Given the description of an element on the screen output the (x, y) to click on. 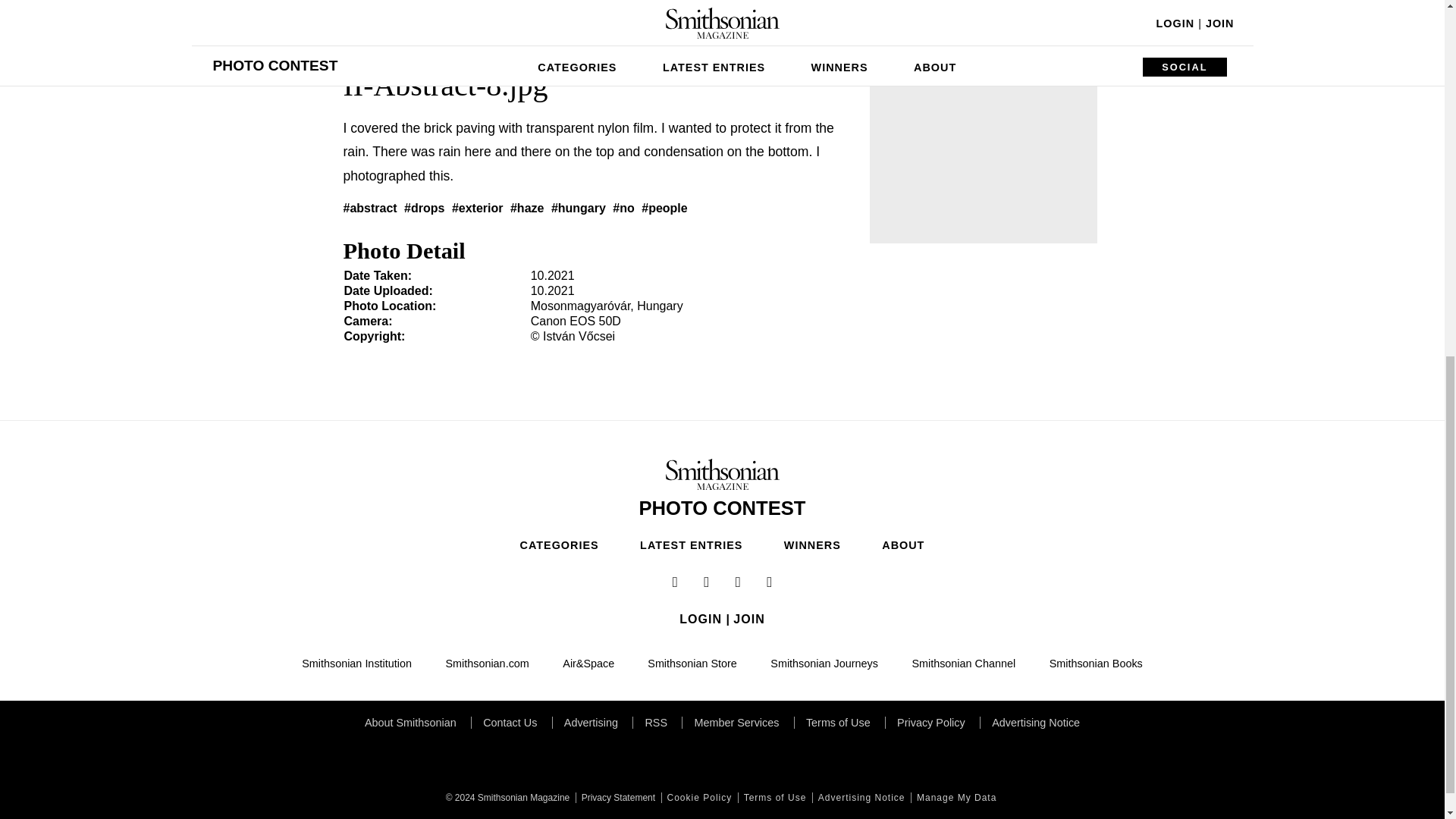
Manage My Data (954, 797)
Cookie Policy (698, 797)
Terms of Use (773, 797)
Advertising Notice (859, 797)
Privacy Statement (616, 797)
